Given the description of an element on the screen output the (x, y) to click on. 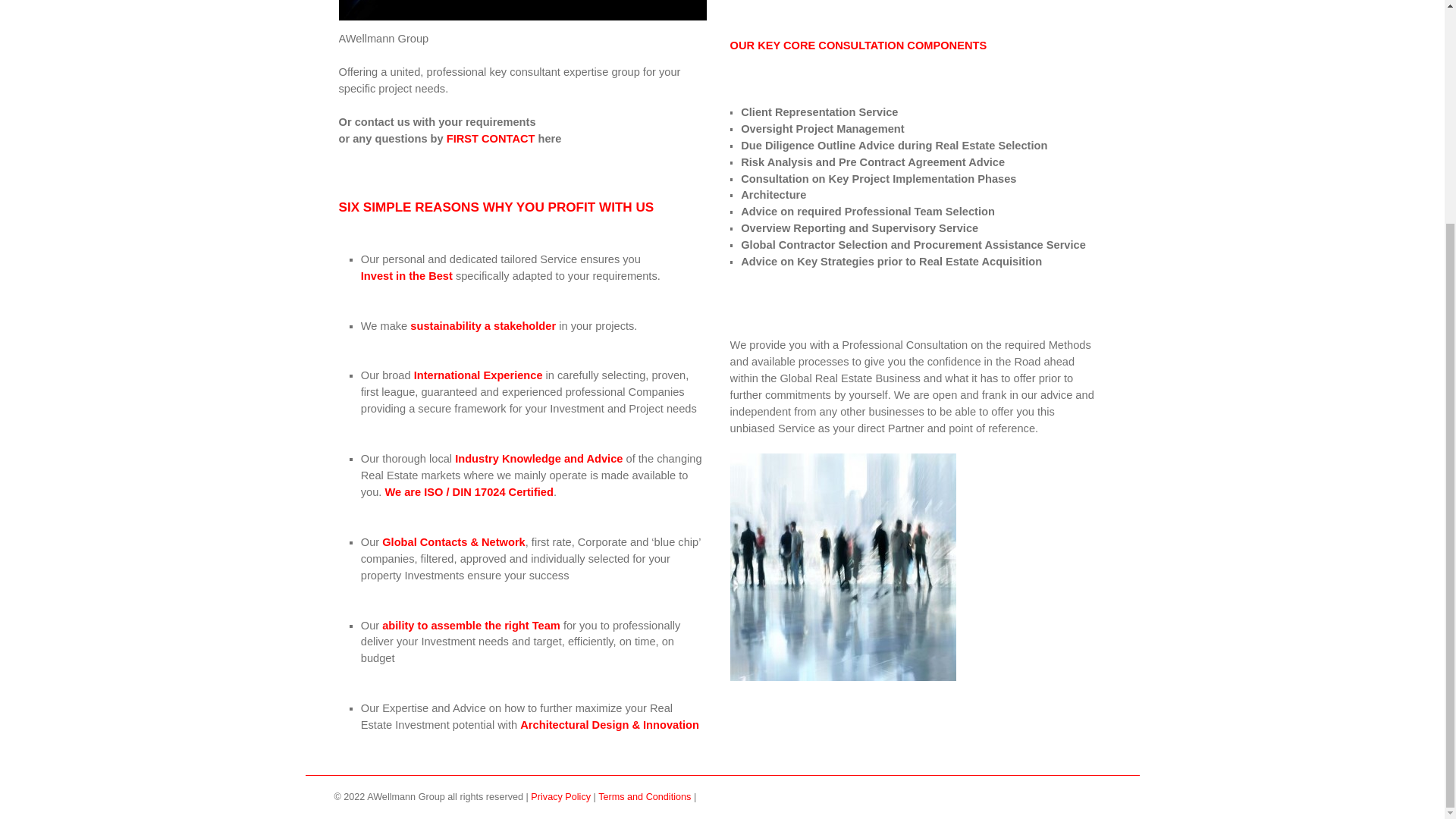
Terms and Conditions (646, 796)
FIRST CONTACT (490, 138)
Privacy Policy (561, 796)
